Given the description of an element on the screen output the (x, y) to click on. 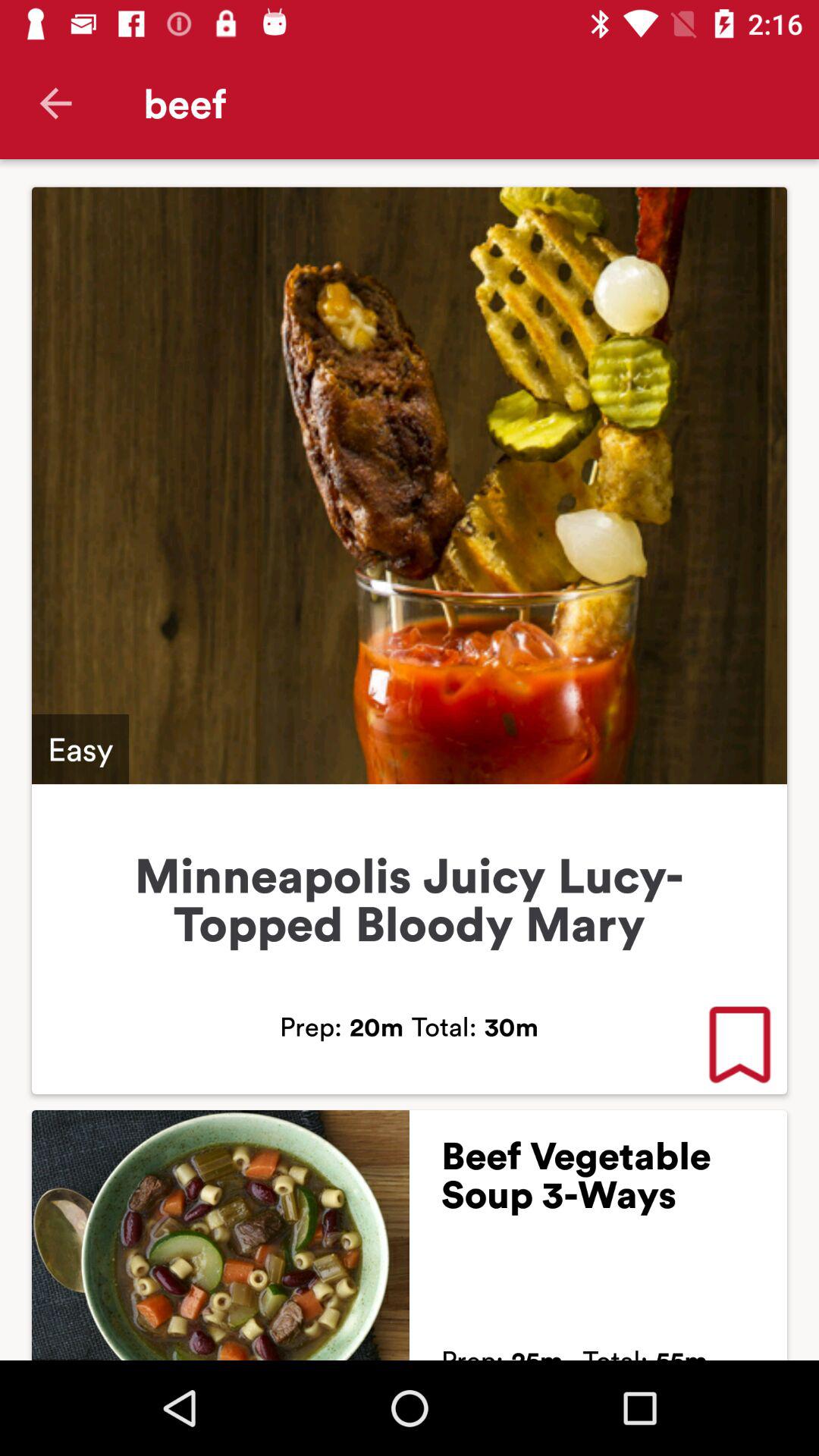
click icon below the minneapolis juicy lucy item (739, 1046)
